Given the description of an element on the screen output the (x, y) to click on. 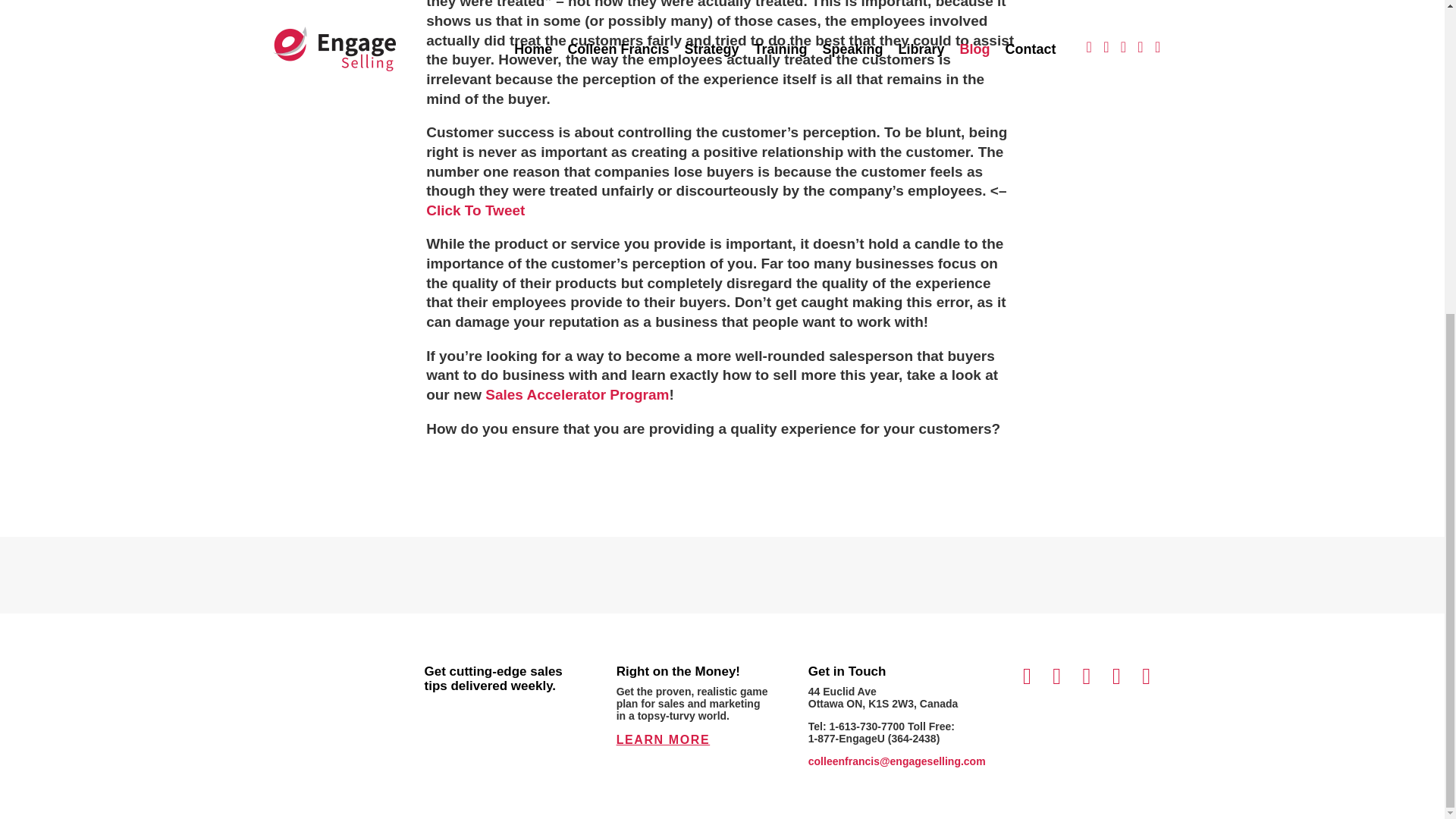
LEARN MORE (662, 739)
Click To Tweet (475, 210)
Sales Accelerator Program (576, 394)
